Given the description of an element on the screen output the (x, y) to click on. 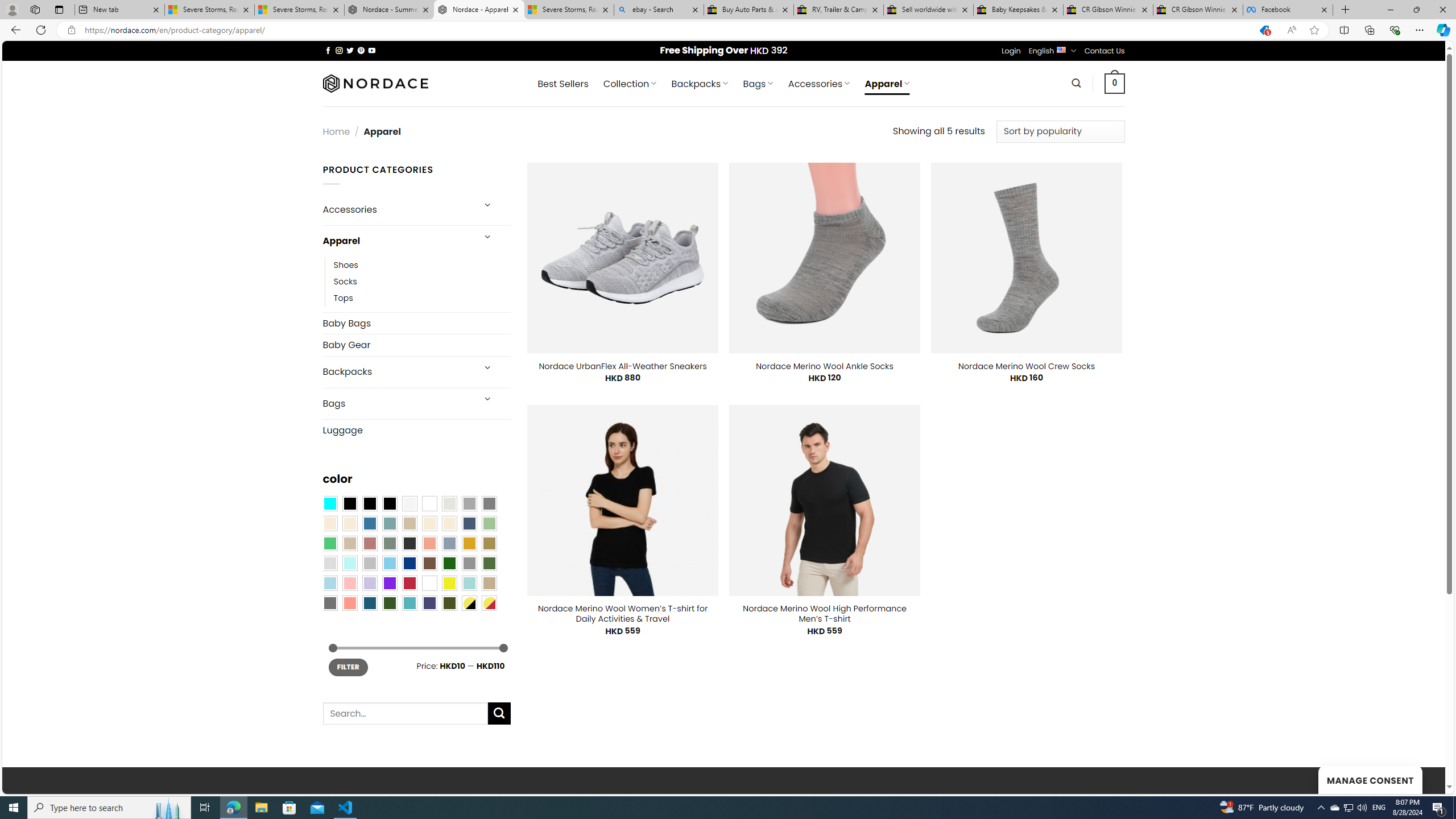
Mint (349, 562)
Nordace - Apparel (478, 9)
Yellow-Black (468, 602)
Rose (369, 542)
Nordace UrbanFlex All-Weather Sneakers (622, 365)
Shoes (345, 264)
Ash Gray (449, 503)
Light Green (488, 522)
Coral (429, 542)
